Given the description of an element on the screen output the (x, y) to click on. 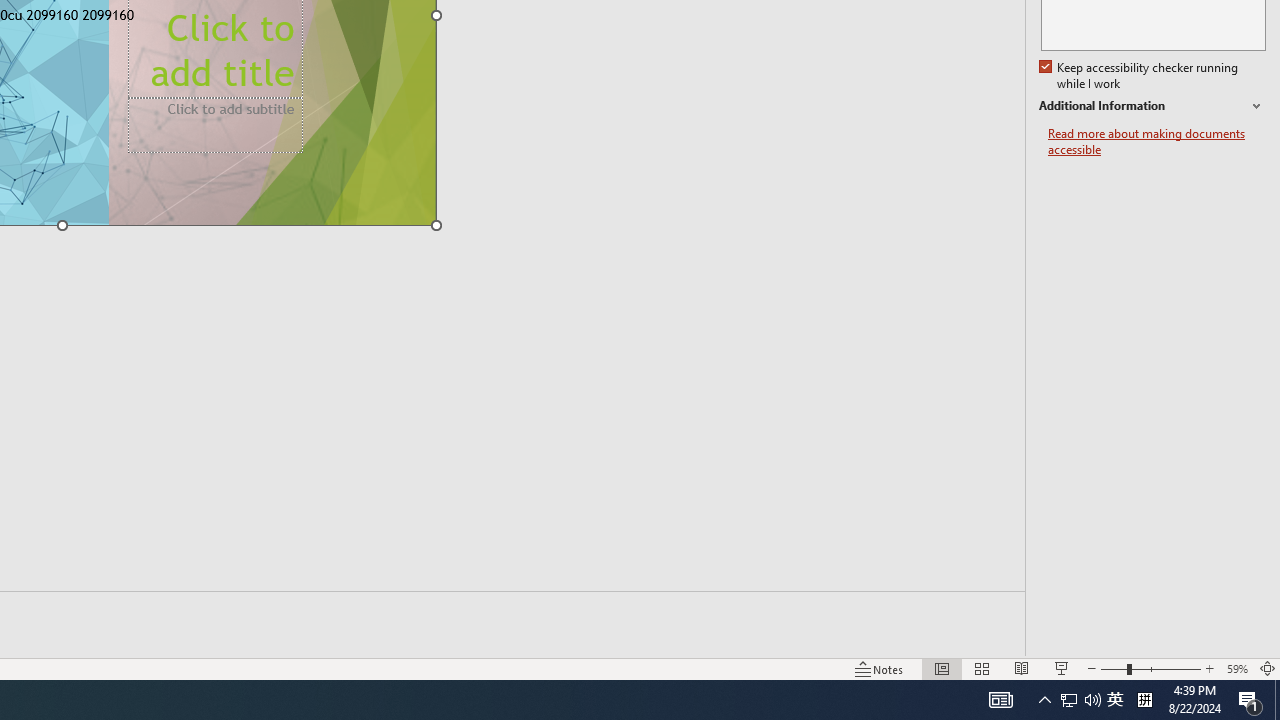
Zoom 59% (1236, 668)
